Given the description of an element on the screen output the (x, y) to click on. 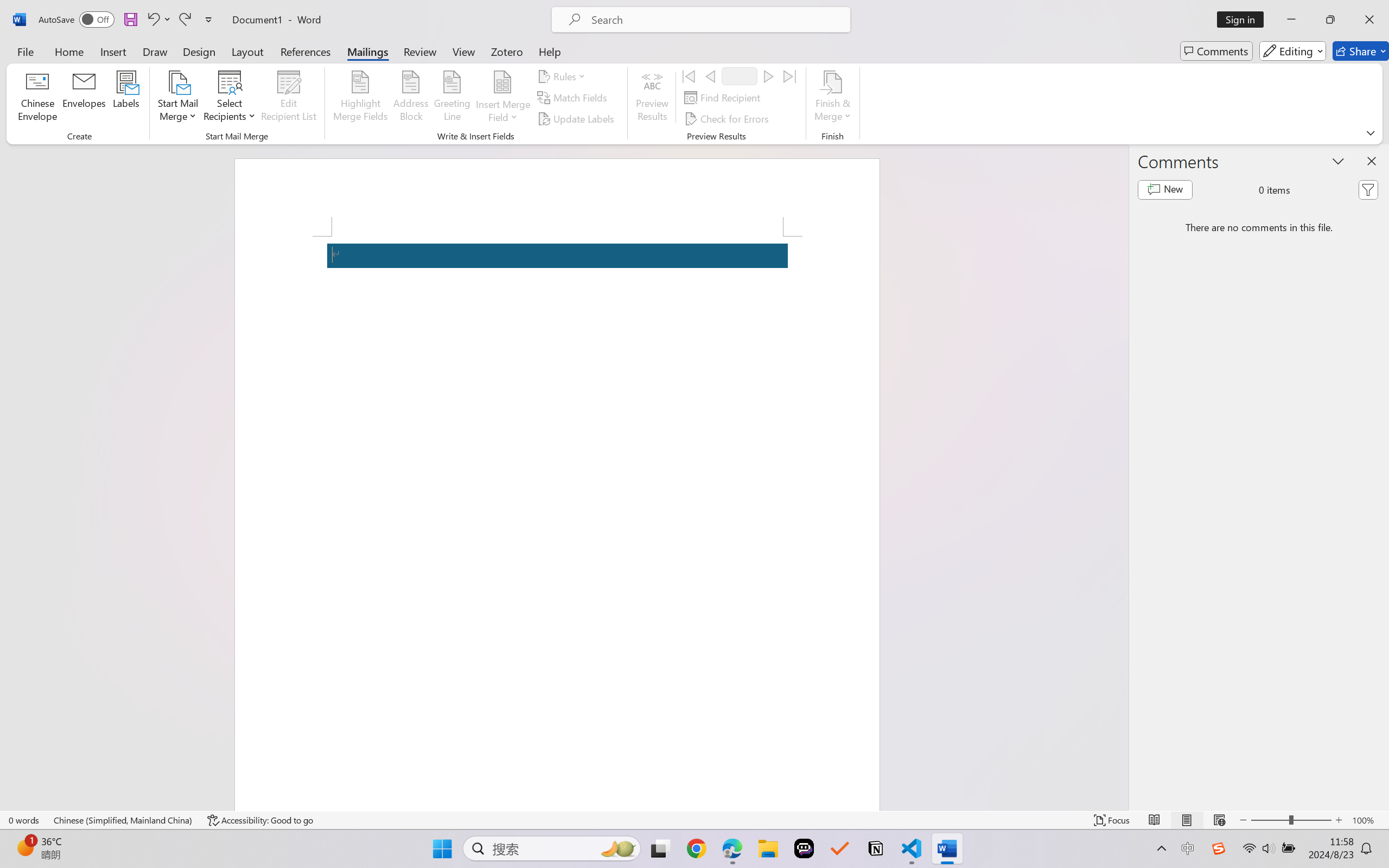
Finish & Merge (832, 97)
Editing (1292, 50)
Previous (709, 75)
Edit Recipient List... (288, 97)
Start Mail Merge (177, 97)
New comment (1165, 189)
